Given the description of an element on the screen output the (x, y) to click on. 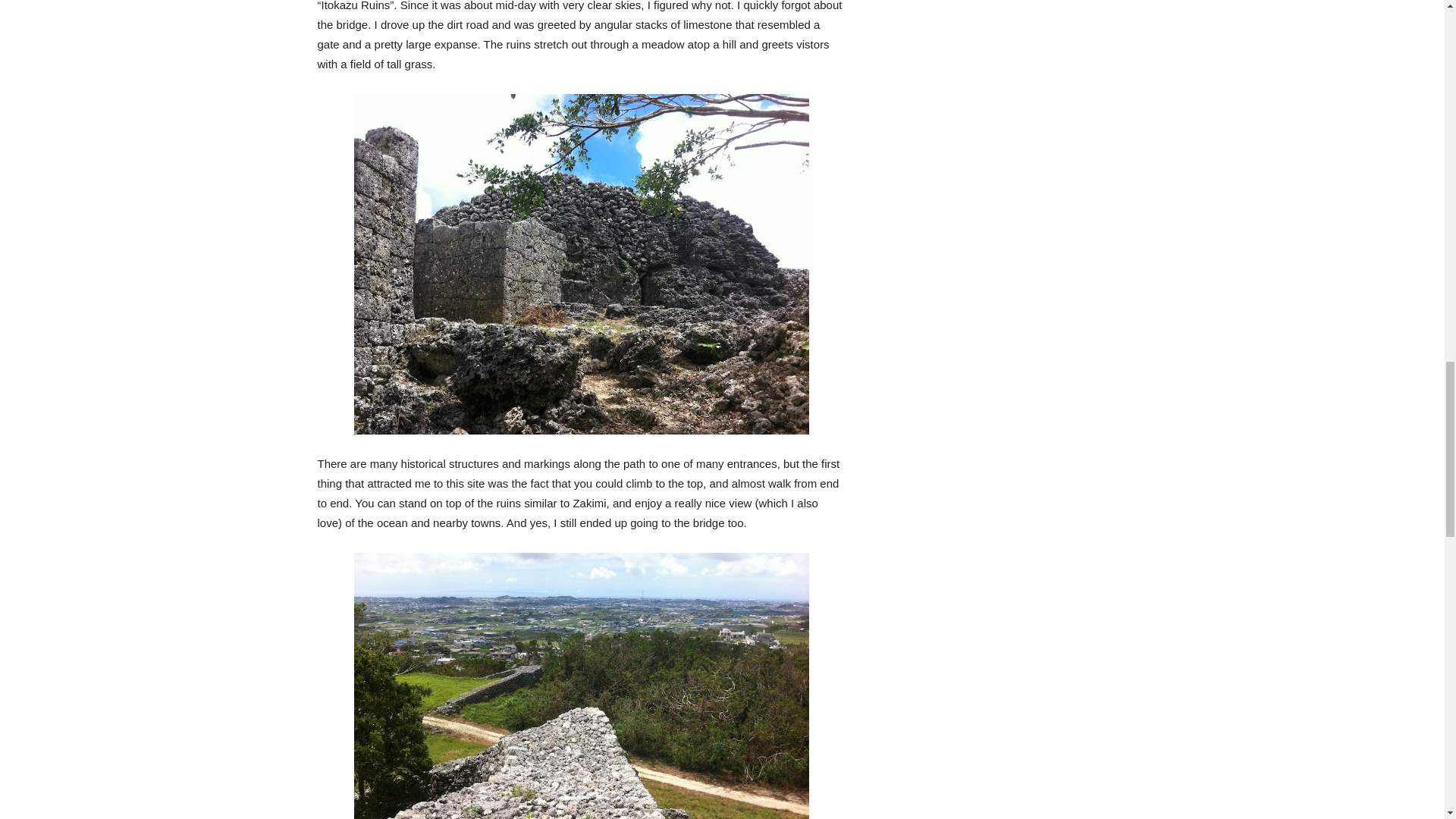
Itokazu 4 (580, 685)
